Given the description of an element on the screen output the (x, y) to click on. 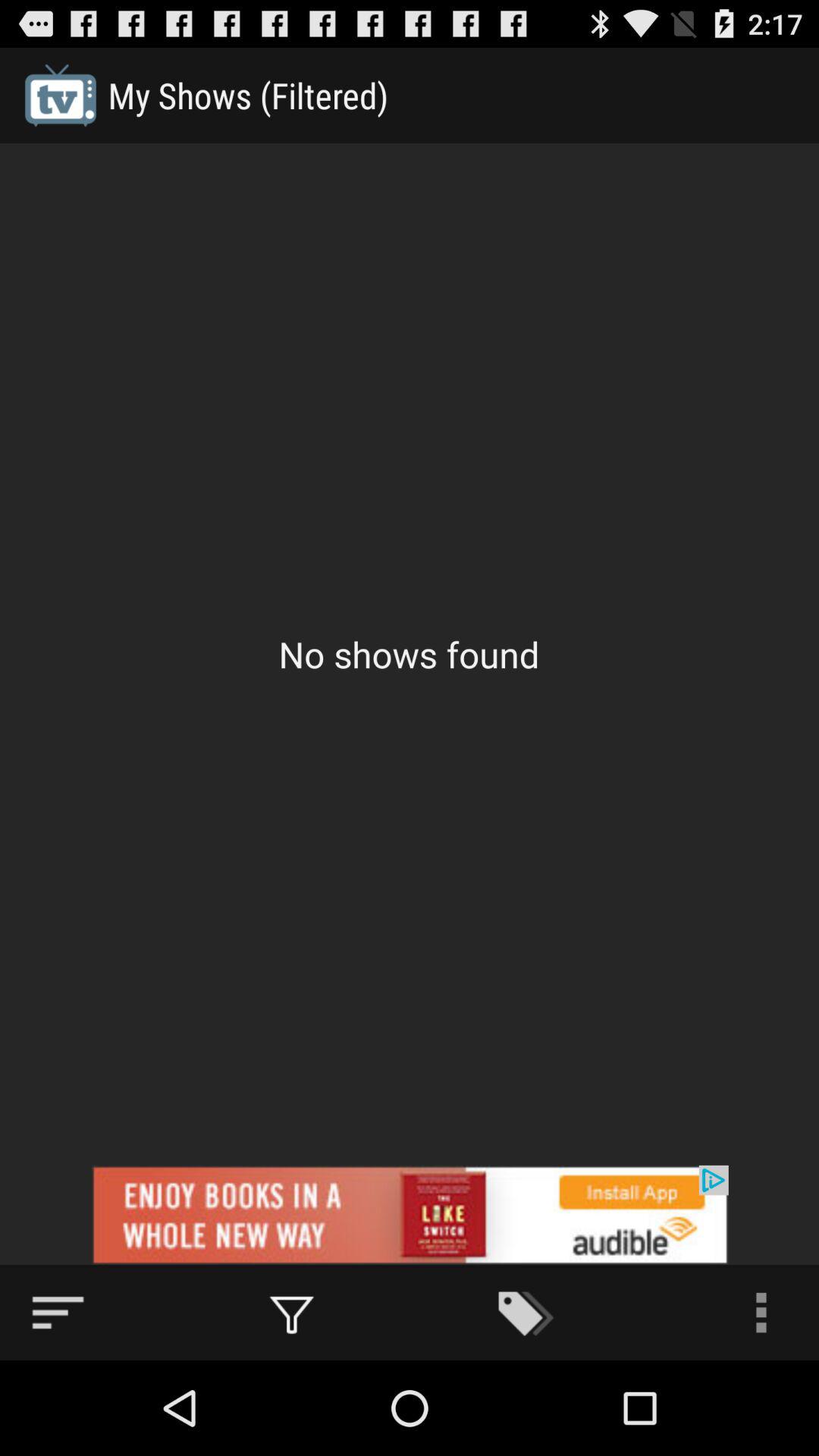
advertisement (409, 1214)
